Given the description of an element on the screen output the (x, y) to click on. 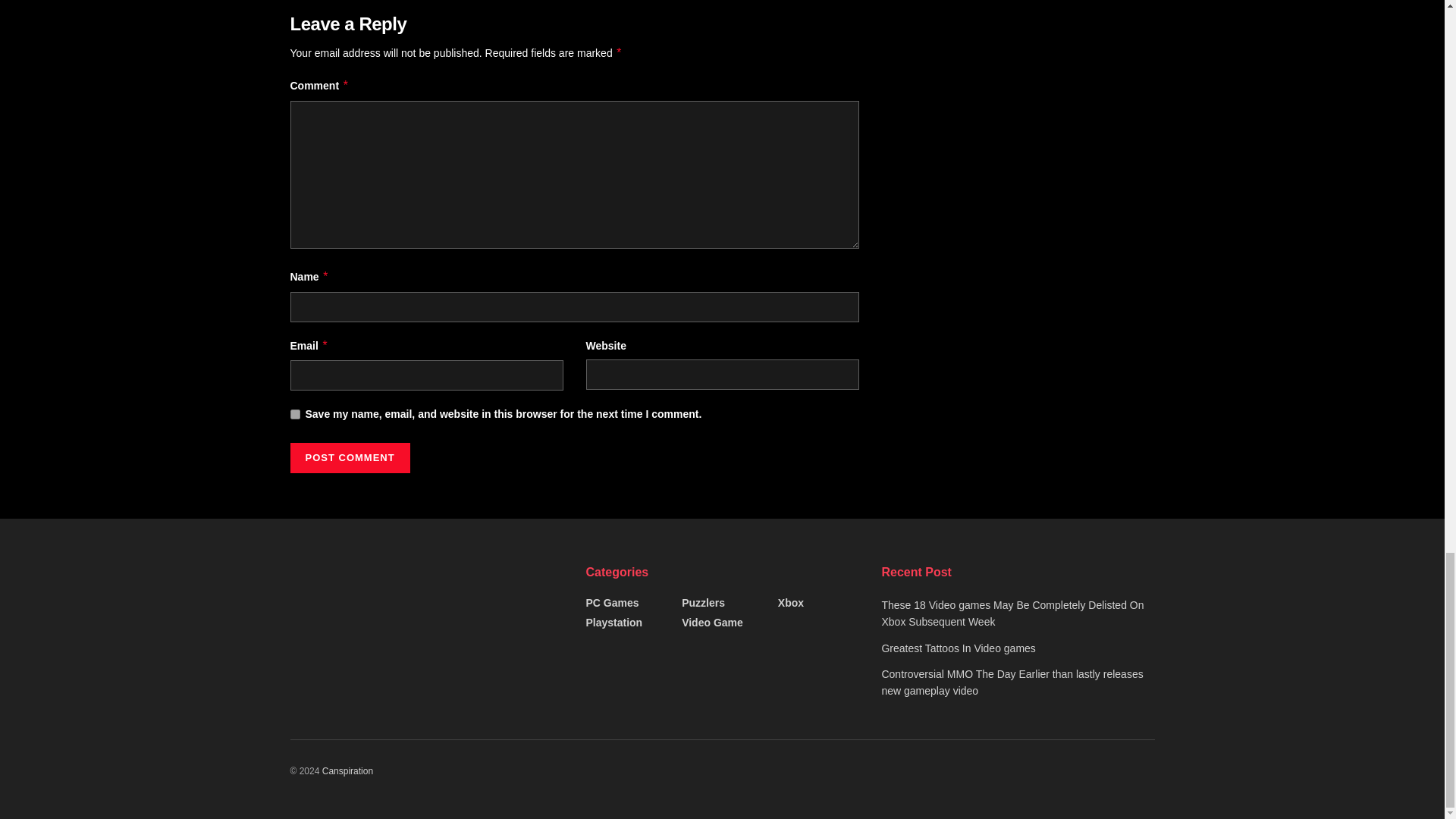
Post Comment (349, 458)
yes (294, 414)
